Given the description of an element on the screen output the (x, y) to click on. 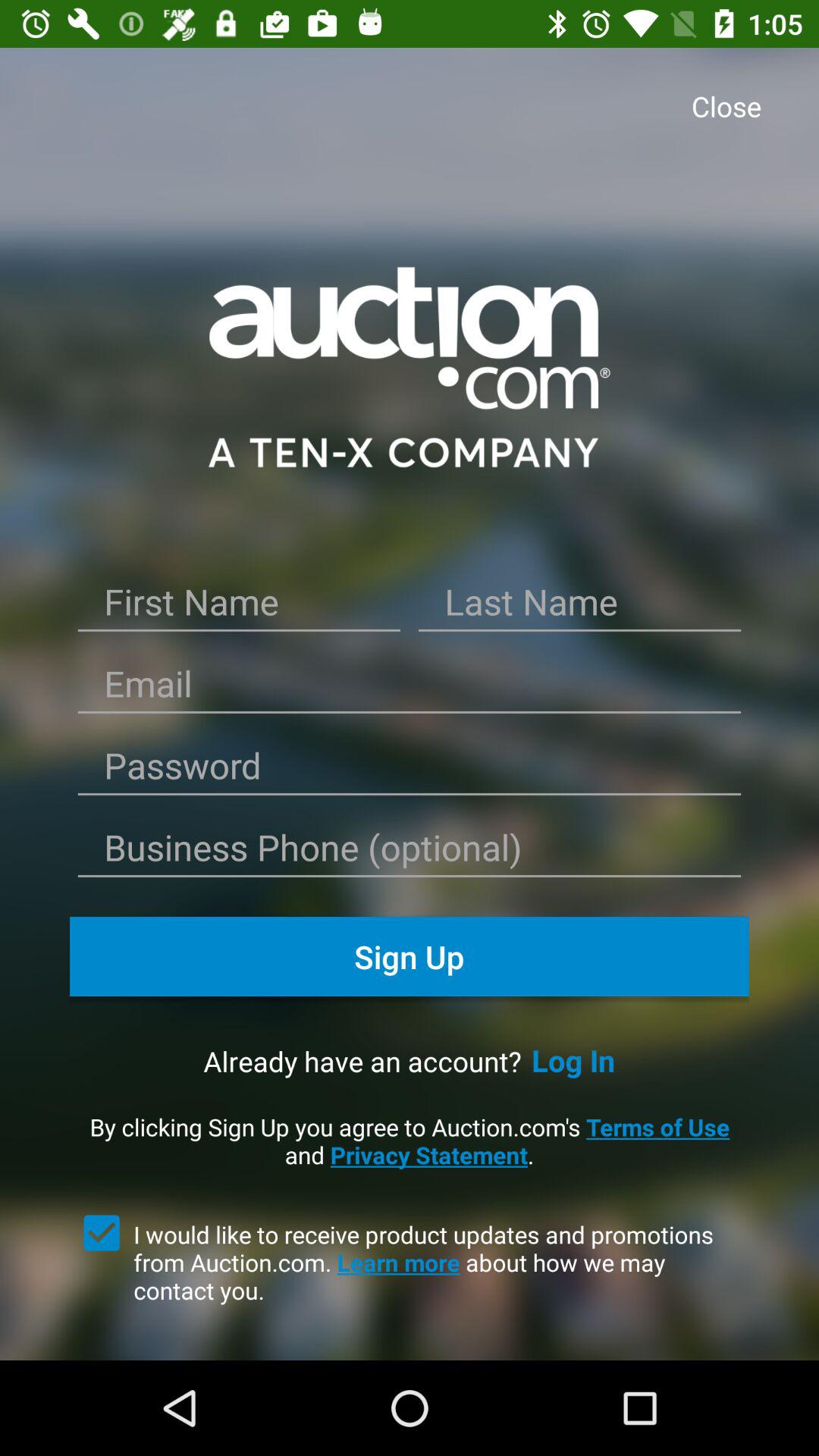
select the item below the log in item (409, 1140)
